Given the description of an element on the screen output the (x, y) to click on. 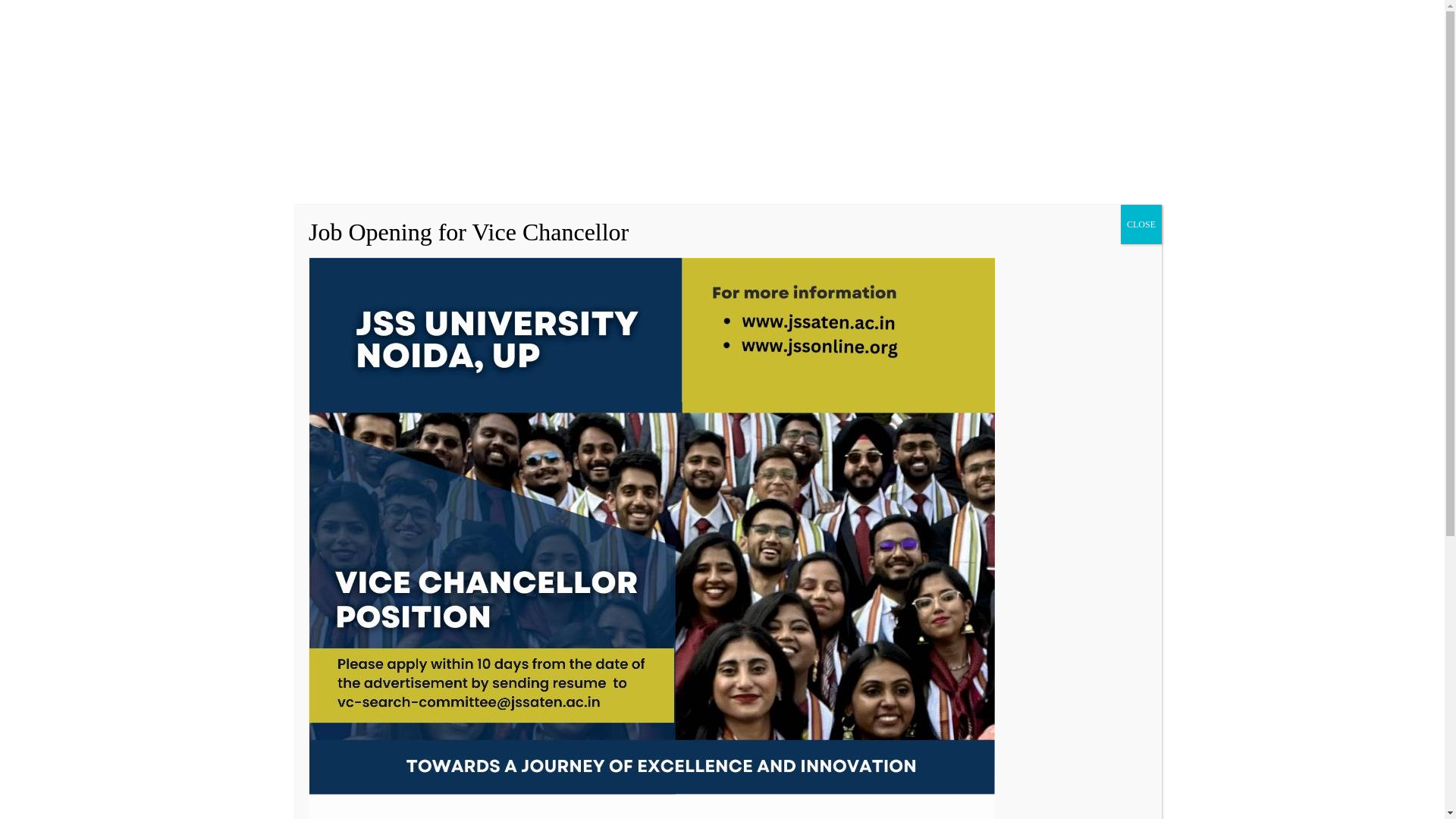
Directory (1094, 16)
Sri Suttur Math (379, 156)
Gallery (1048, 16)
Email Login (1222, 16)
Careers (1138, 16)
Suttur-School (381, 606)
News (1174, 16)
Publications (948, 16)
Our Team (1003, 16)
Our Institutions (457, 156)
